Given the description of an element on the screen output the (x, y) to click on. 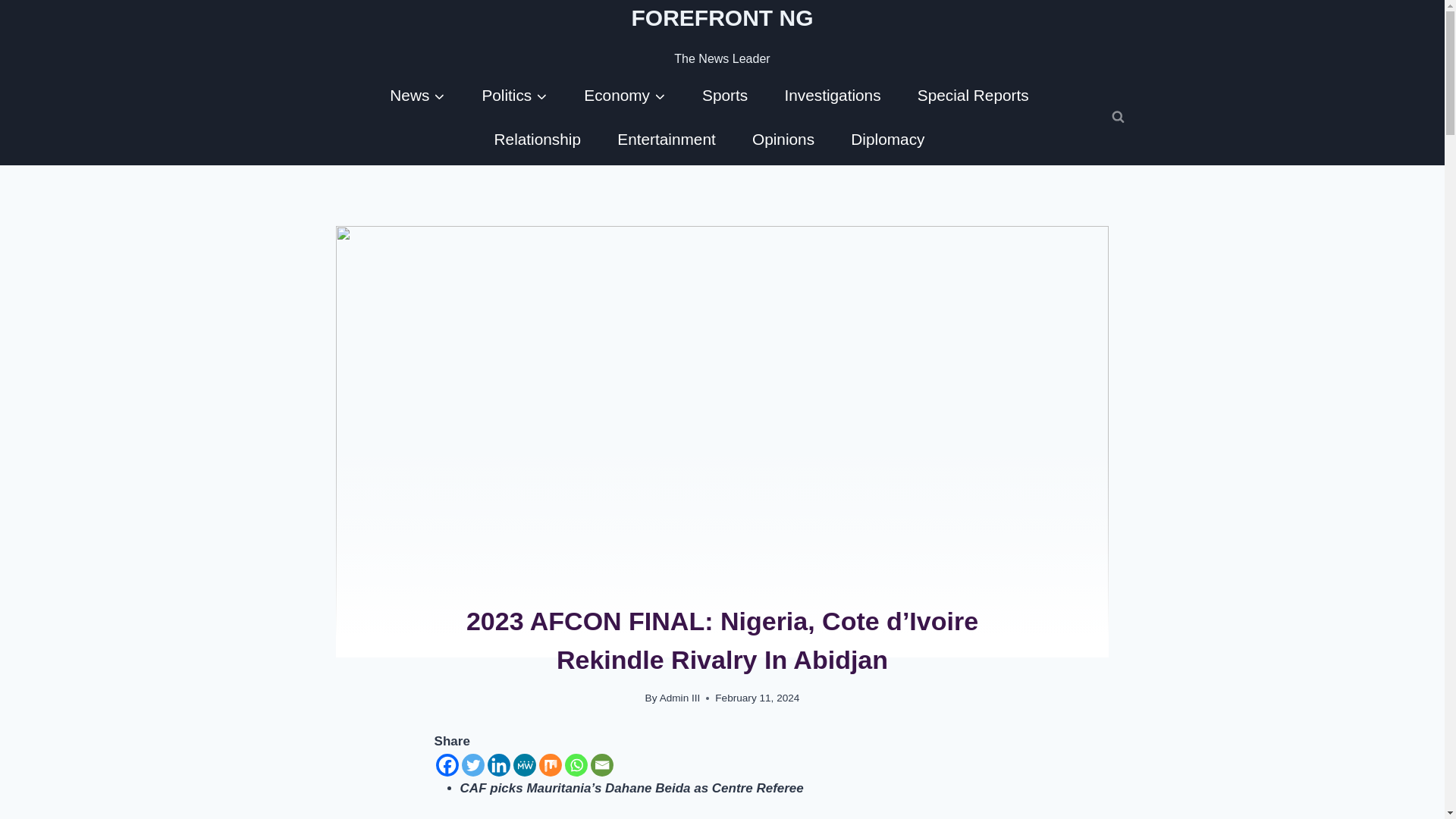
Admin III (679, 697)
Sports (724, 94)
Email (601, 764)
Relationship (537, 138)
Politics (514, 94)
Investigations (831, 94)
Entertainment (665, 138)
News (417, 94)
Special Reports (972, 94)
Economy (625, 94)
